Given the description of an element on the screen output the (x, y) to click on. 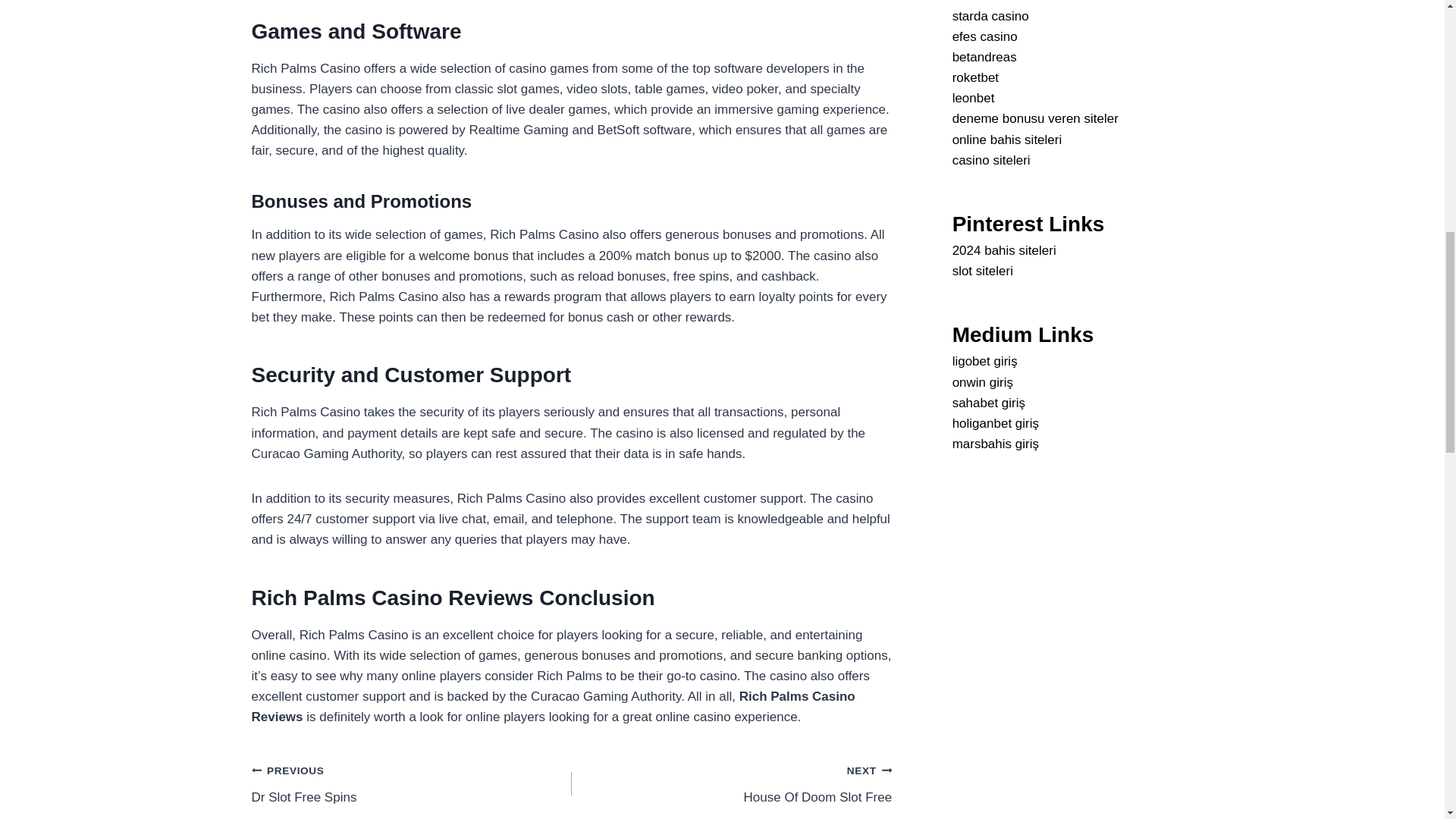
2024 bahis siteleri (1004, 250)
roketbet (411, 783)
leonbet (975, 77)
starda casino (973, 97)
betandreas (990, 16)
online bahis siteleri (731, 783)
deneme bonusu veren siteler (984, 56)
casino siteleri (1007, 139)
efes casino (1035, 118)
